Given the description of an element on the screen output the (x, y) to click on. 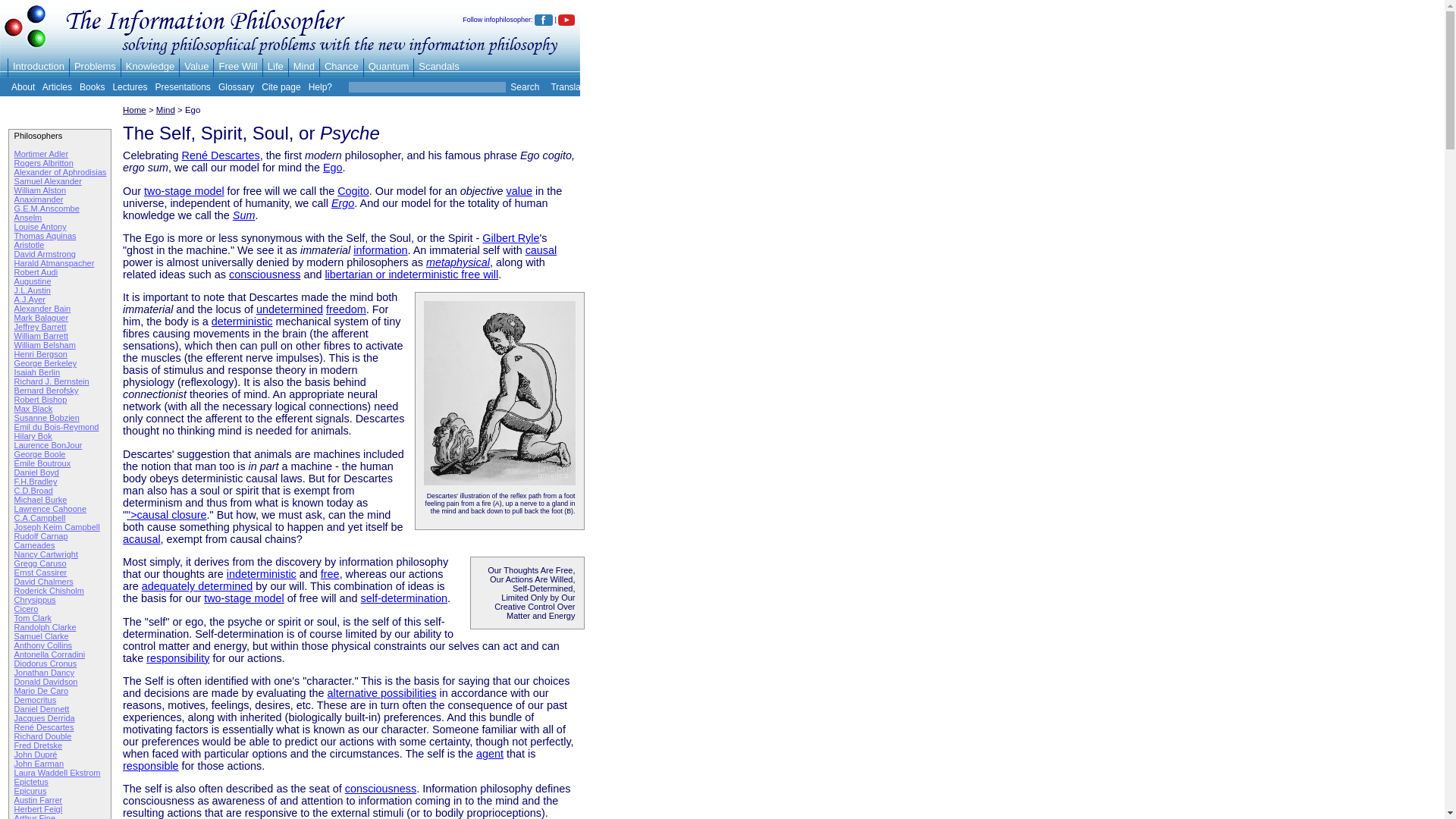
Glossary of Terms (235, 86)
Articles (56, 86)
Lectures (129, 86)
Problems (95, 66)
Glossary (235, 86)
infophilosopher on Facebook (543, 19)
Books (92, 86)
Free Will (237, 66)
Mind (304, 66)
About (22, 86)
